Given the description of an element on the screen output the (x, y) to click on. 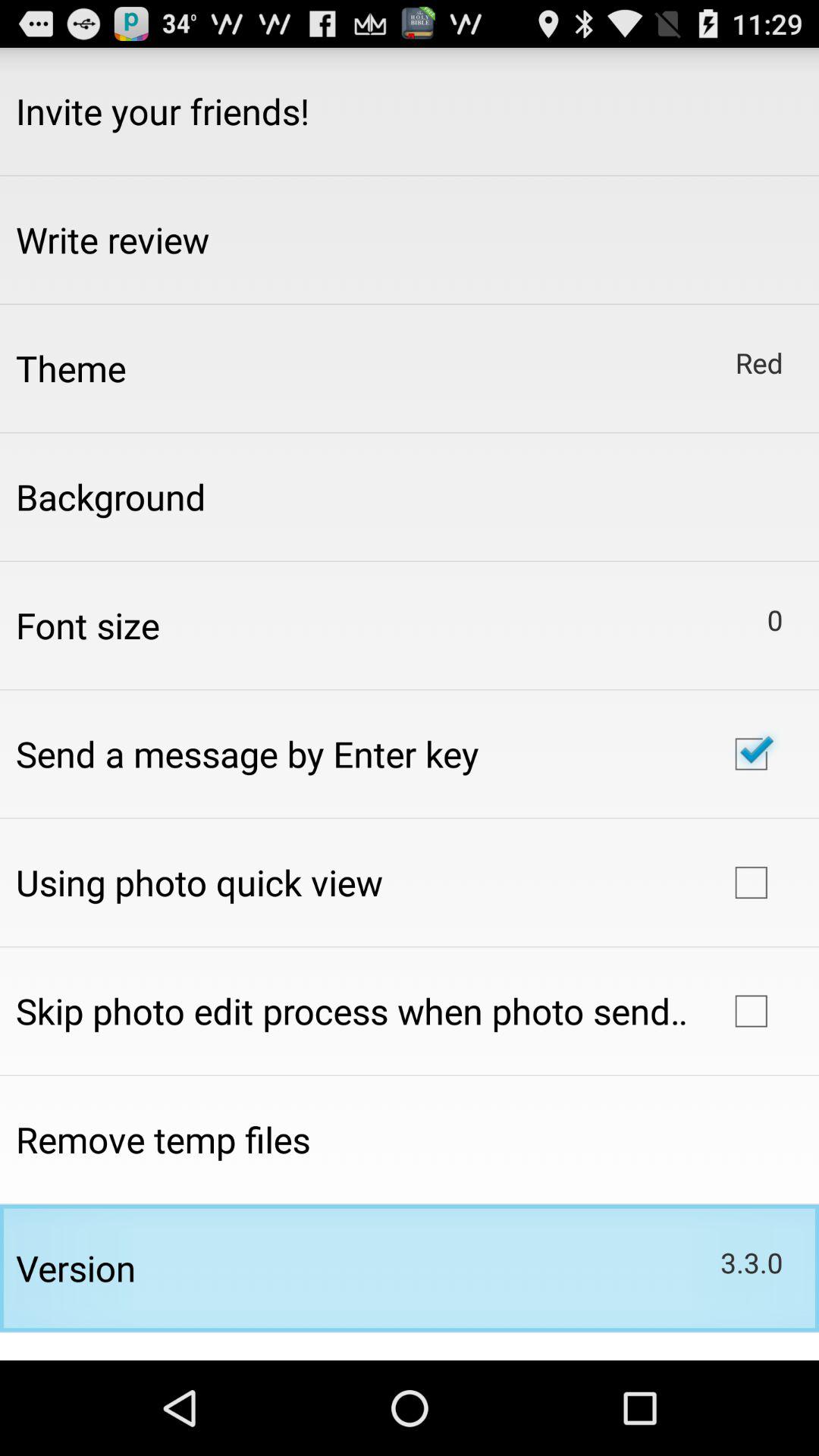
jump to the skip photo edit item (351, 1010)
